Given the description of an element on the screen output the (x, y) to click on. 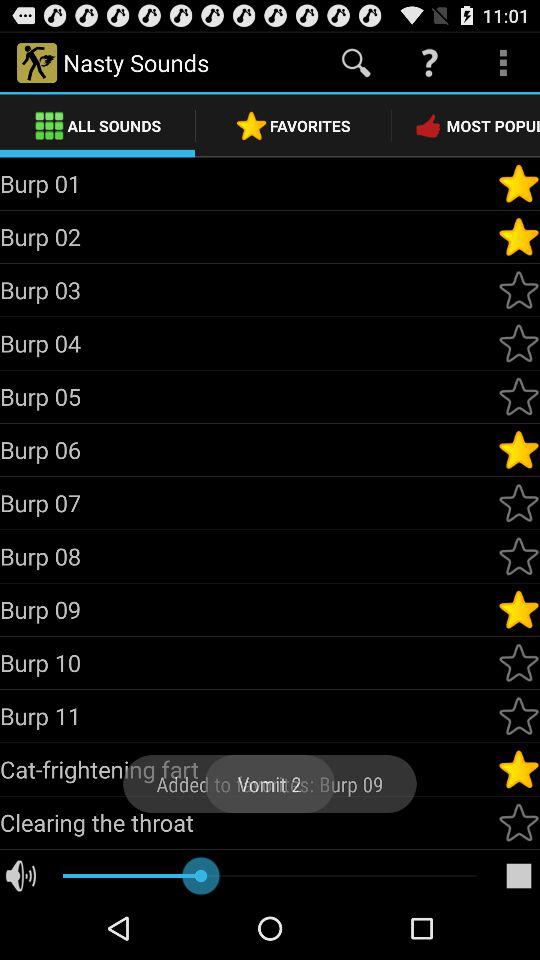
select as favorite (519, 343)
